Given the description of an element on the screen output the (x, y) to click on. 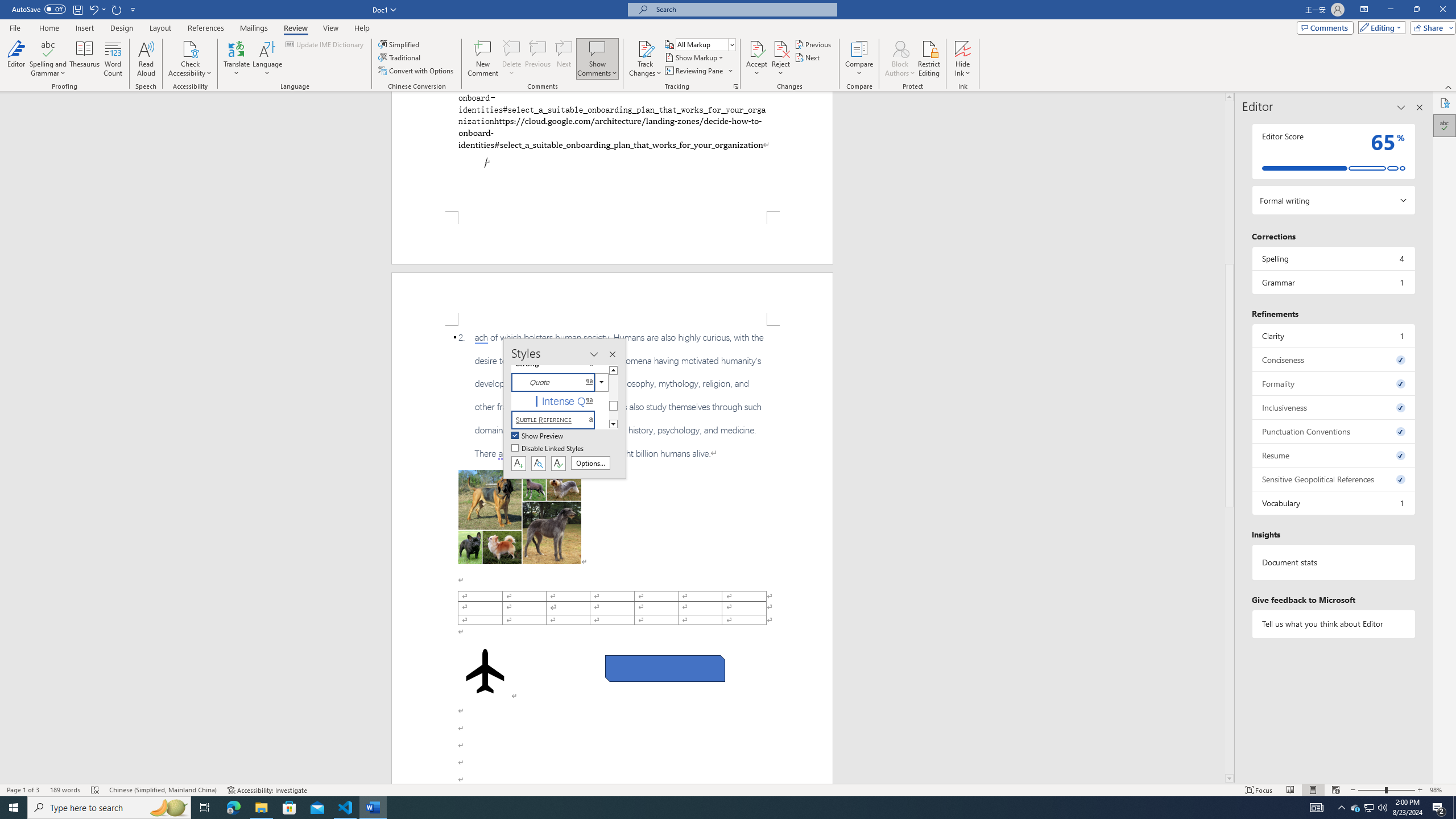
Editor Score 65% (1333, 151)
Hide Ink (962, 48)
Track Changes (644, 48)
Next (808, 56)
Show Comments (597, 48)
Page Number Page 1 of 3 (22, 790)
Check Accessibility (189, 48)
Page 1 content (611, 151)
Display for Review (705, 44)
Accept (756, 58)
Traditional (400, 56)
